Given the description of an element on the screen output the (x, y) to click on. 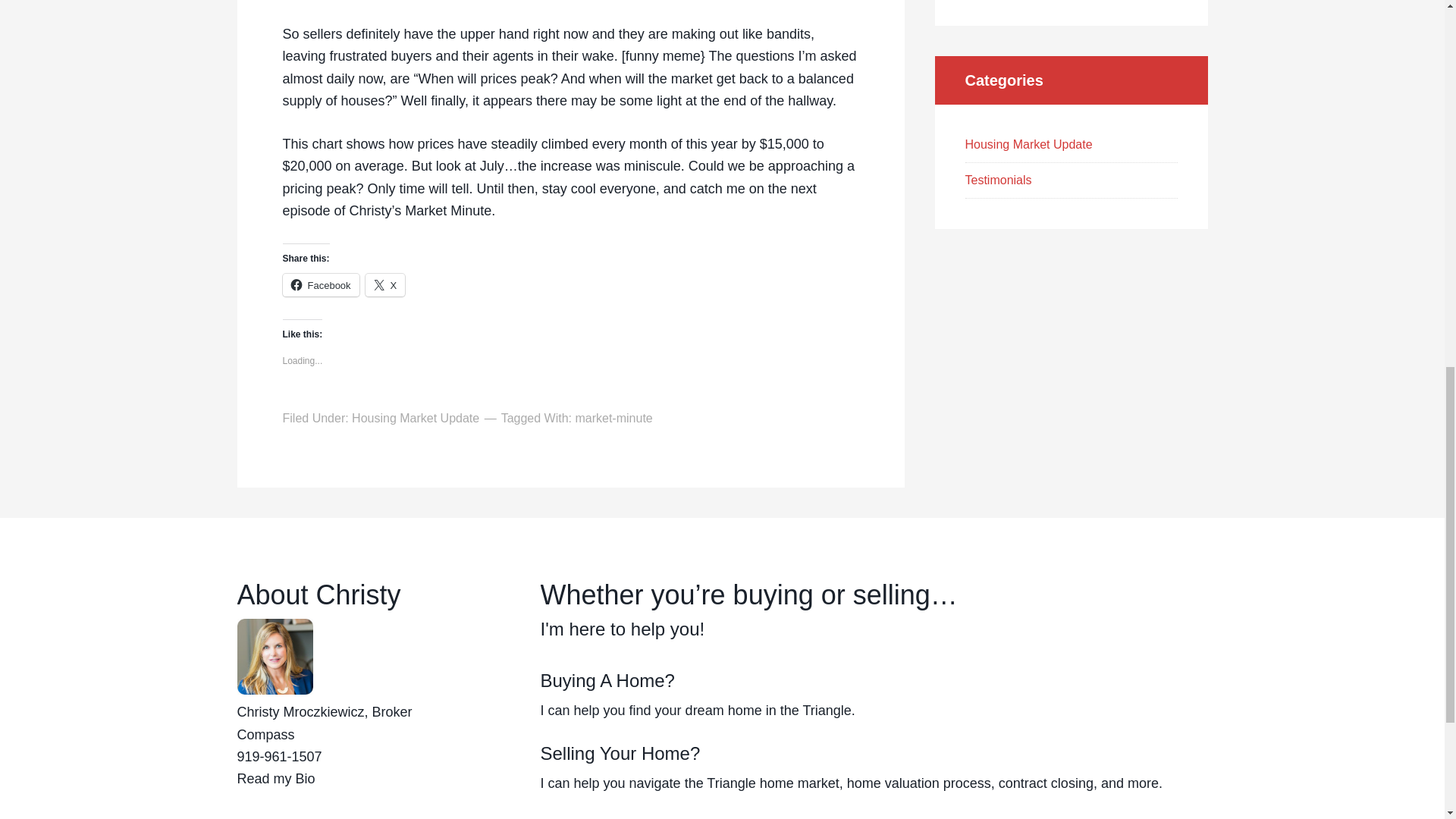
X (385, 284)
Housing Market Update (415, 418)
Housing Market Update (1027, 144)
Click to share on Facebook (320, 284)
Testimonials (996, 179)
market-minute (613, 418)
919-961-1507 (278, 756)
Click to share on X (385, 284)
Facebook (320, 284)
Read my Bio (274, 778)
